Given the description of an element on the screen output the (x, y) to click on. 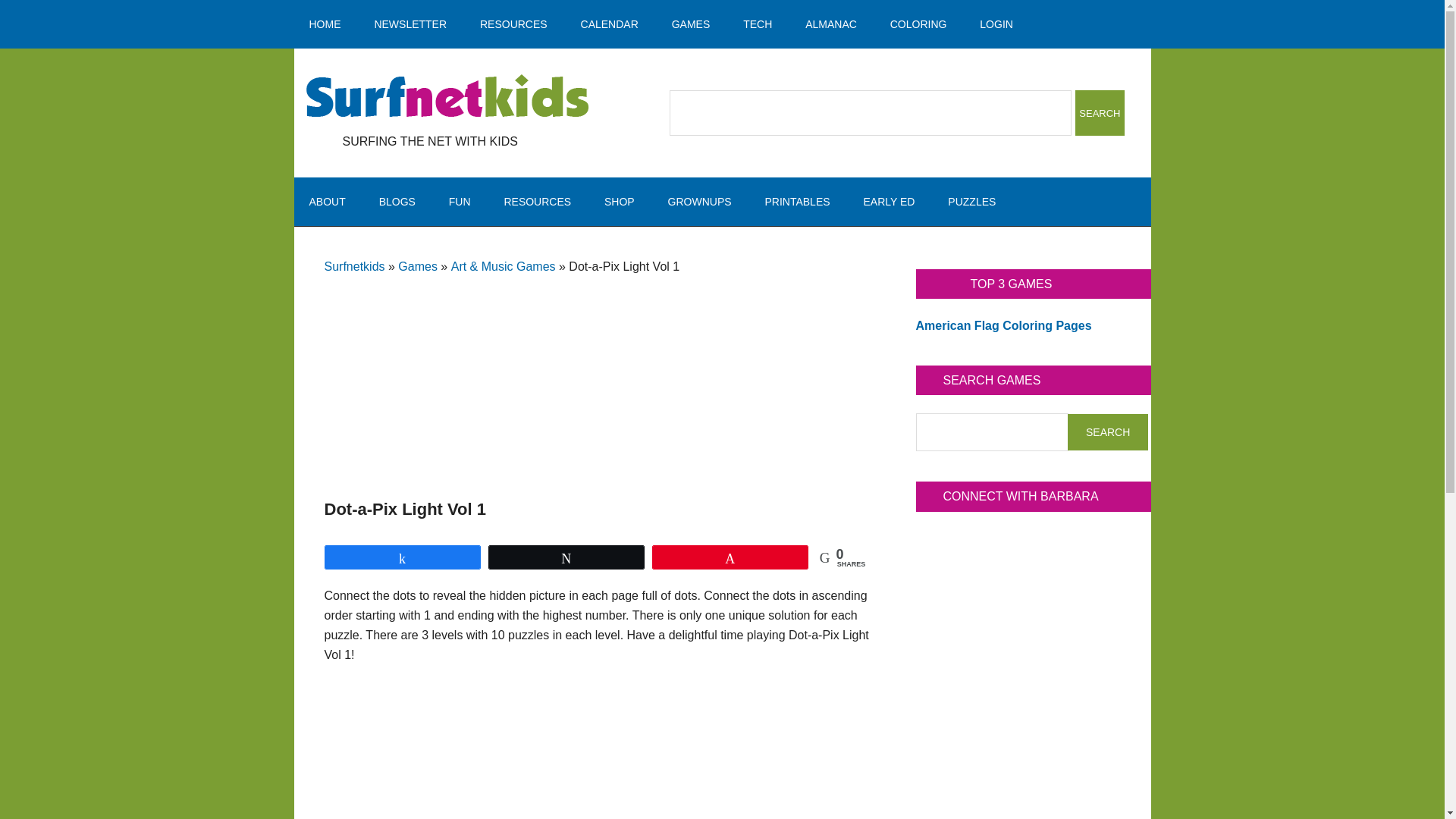
Surfing the Net with Kids (446, 97)
BLOGS (397, 201)
FUN (459, 201)
SHOP (619, 201)
Advertisement (597, 369)
COLORING (918, 24)
ALMANAC (831, 24)
Surfing the Net with Kids (446, 97)
NEWSLETTER (409, 24)
Search (1099, 112)
HOME (325, 24)
RESOURCES (536, 201)
GAMES (690, 24)
ABOUT (327, 201)
CALENDAR (609, 24)
